Given the description of an element on the screen output the (x, y) to click on. 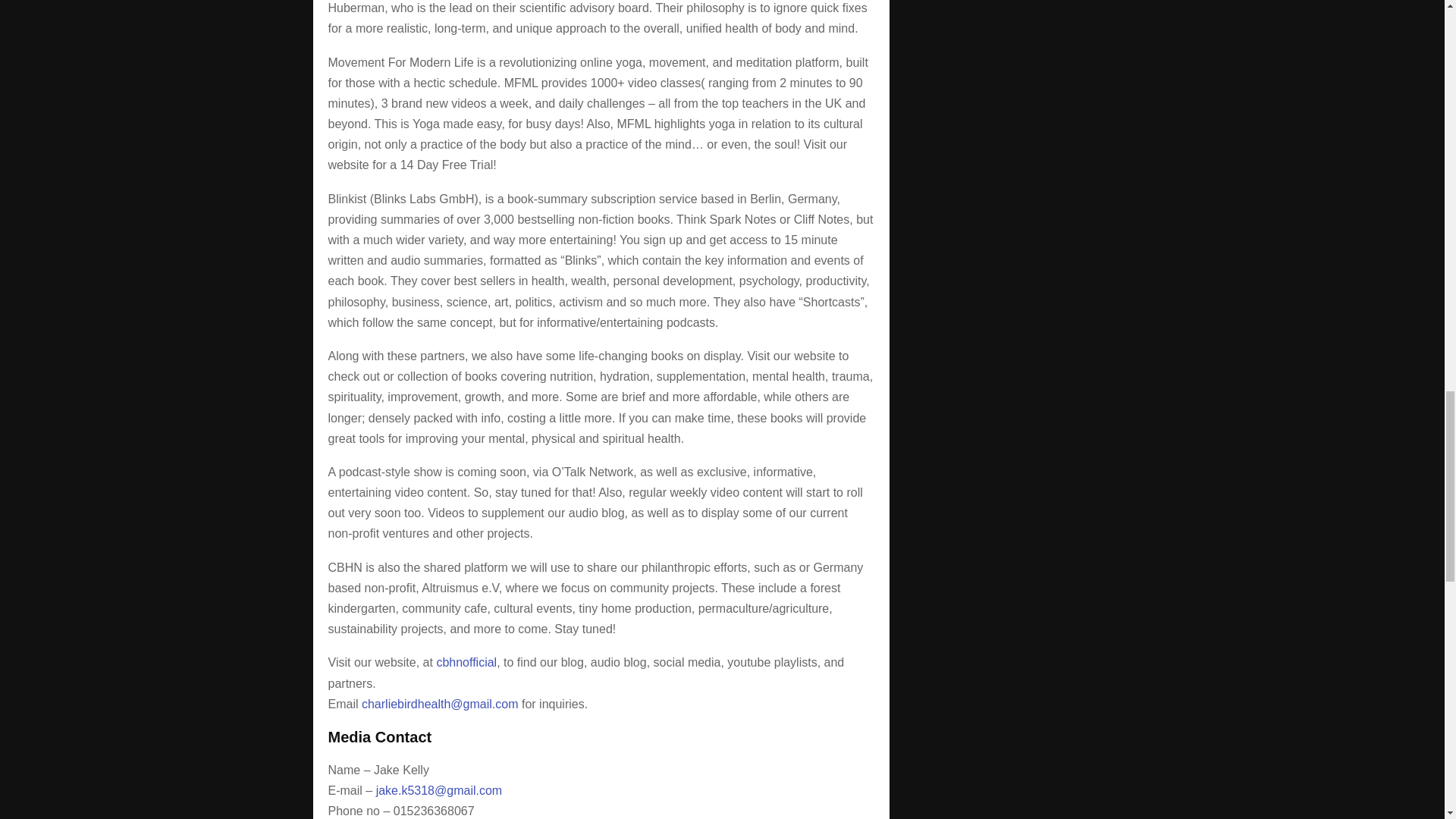
cbhnofficial (465, 662)
